Given the description of an element on the screen output the (x, y) to click on. 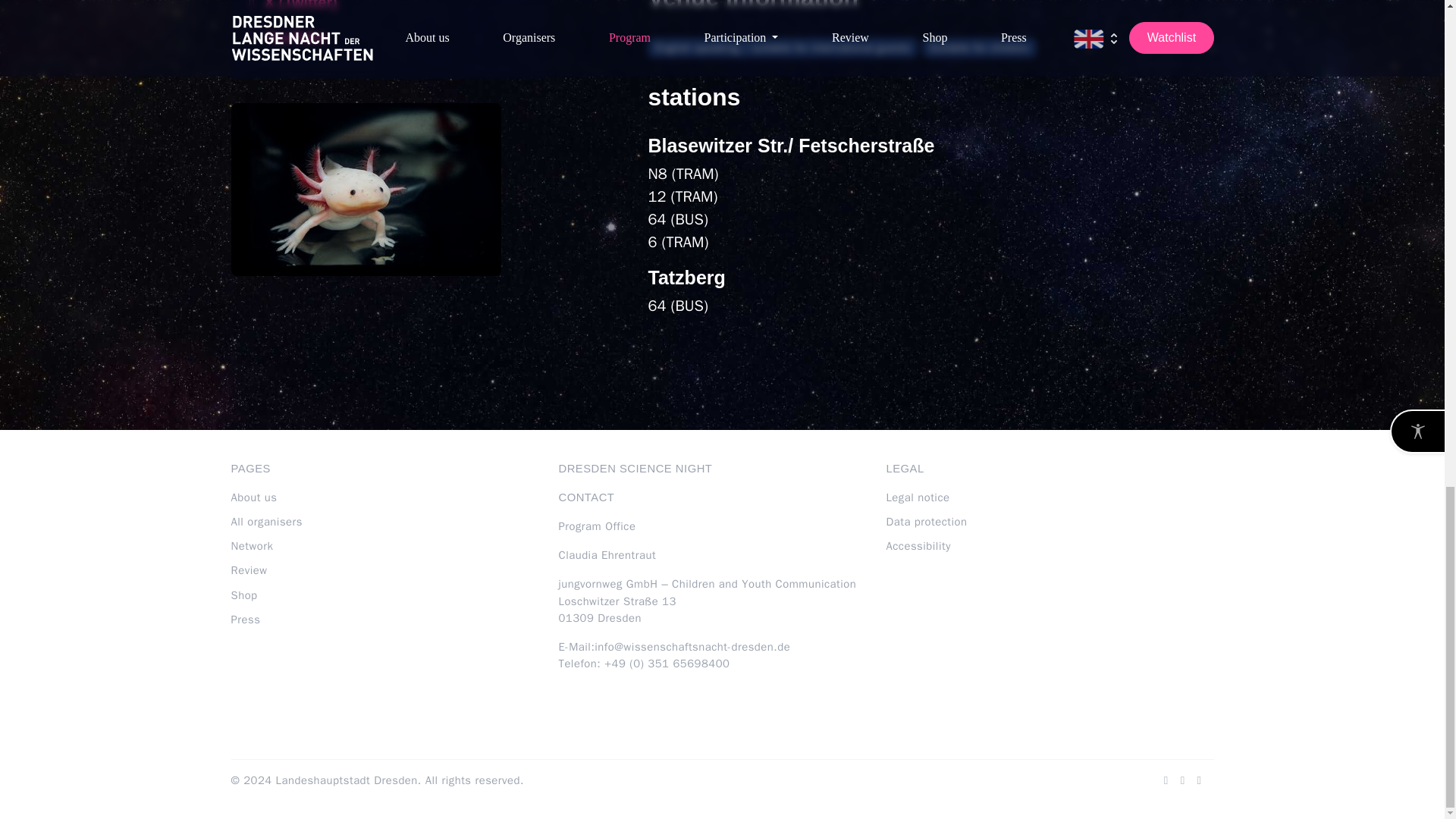
All organisers (265, 521)
Review (248, 570)
Legal notice (917, 497)
Press (245, 619)
Accessibility (917, 545)
Review (248, 570)
Shop (243, 594)
All organisers (265, 521)
Data protection (925, 521)
Network (251, 545)
